Given the description of an element on the screen output the (x, y) to click on. 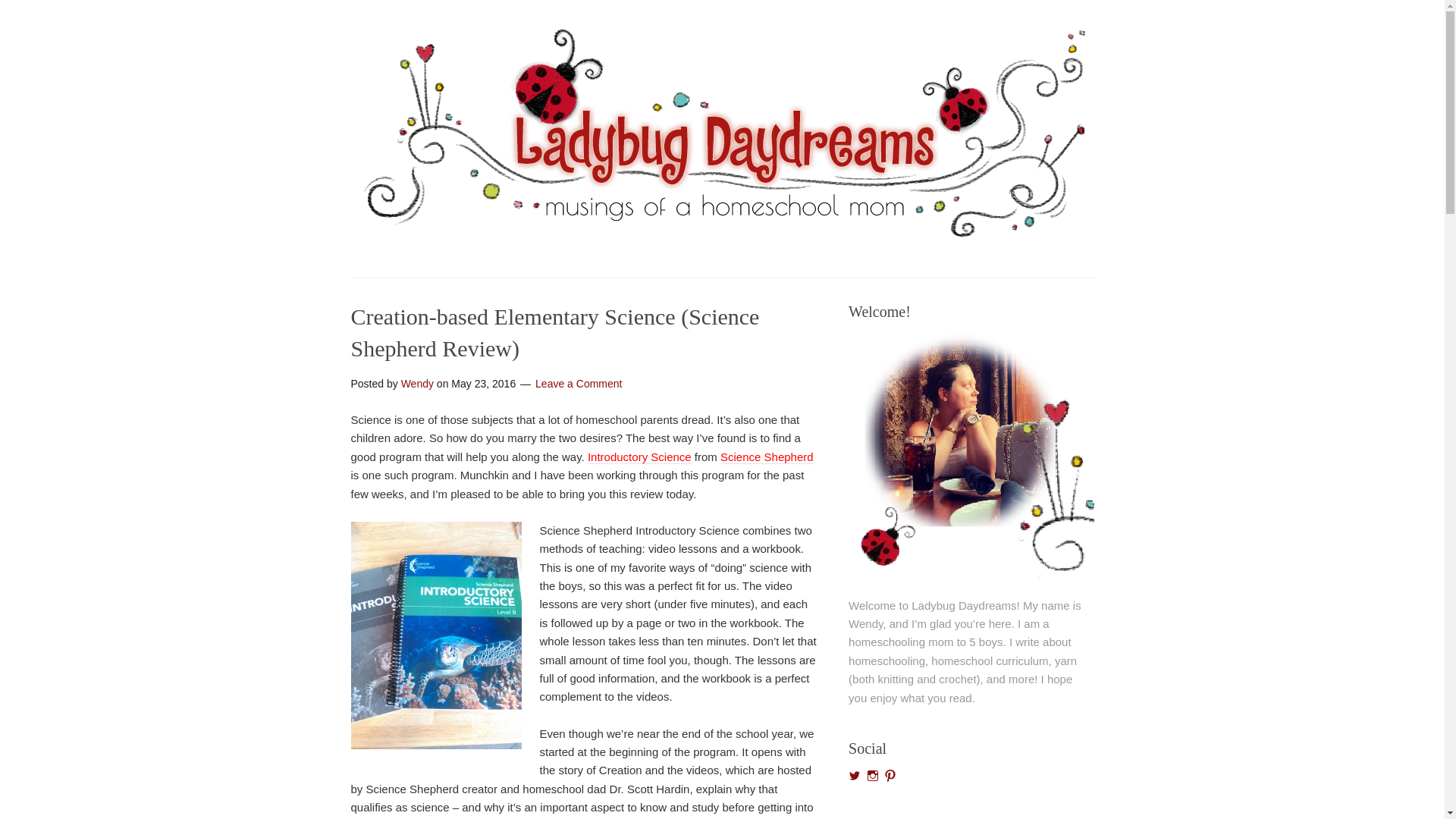
Wendy (417, 383)
Introductory Science (639, 457)
Science Shepherd (766, 457)
Monday, May 23, 2016, 5:00 am (483, 383)
Ladybug Daydreams (721, 237)
Leave a Comment (578, 383)
